Given the description of an element on the screen output the (x, y) to click on. 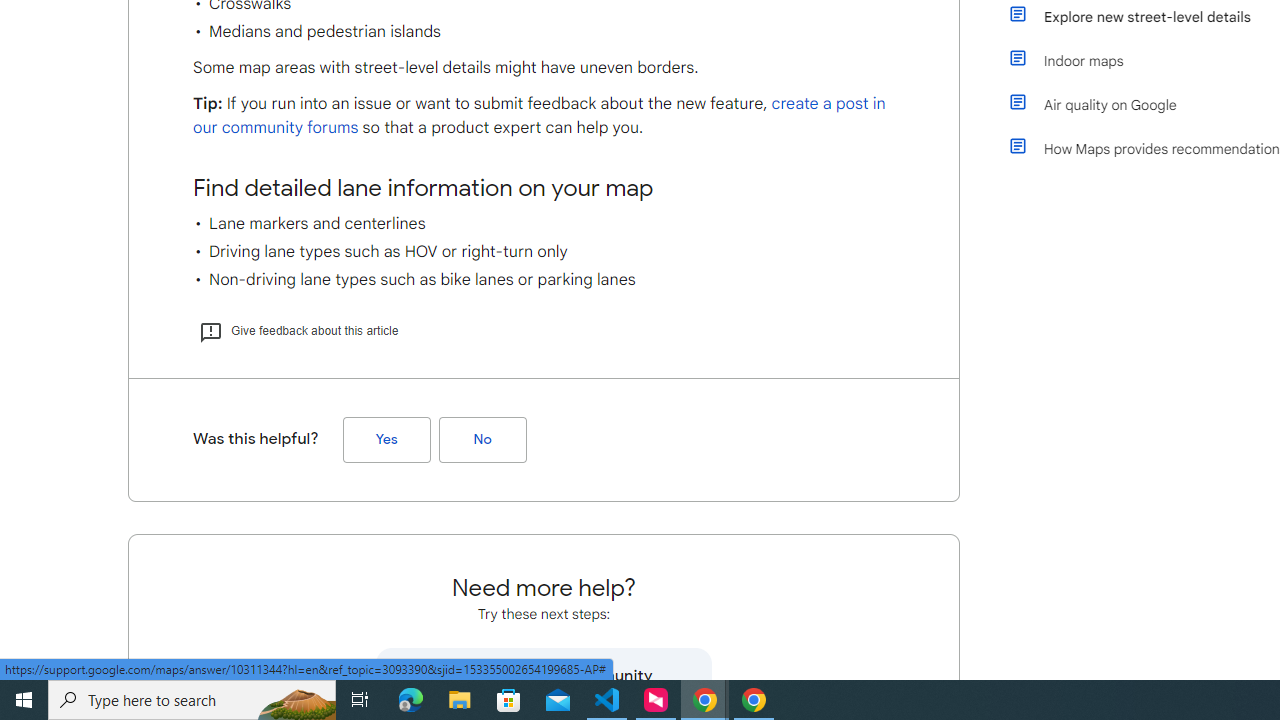
Yes (Was this helpful?) (386, 439)
No (Was this helpful?) (482, 439)
create a post in our community forums (539, 116)
Give feedback about this article (298, 330)
